Given the description of an element on the screen output the (x, y) to click on. 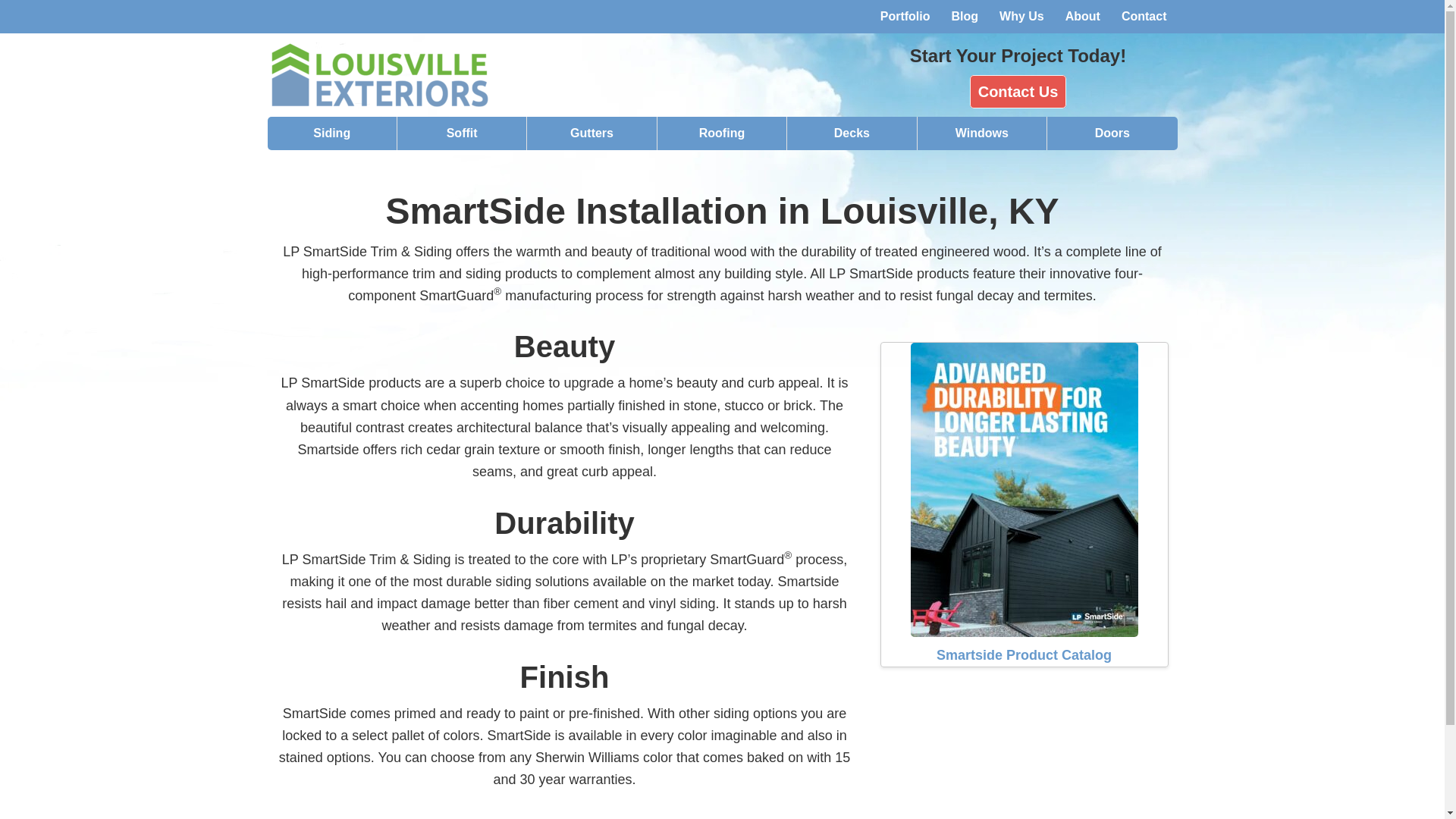
Louisville Exteriors (403, 74)
Why Us (1021, 16)
Blog (965, 16)
About (1082, 16)
Portfolio (904, 16)
Siding (331, 133)
Smartside-Product-Catalog (1023, 490)
Contact Us (1018, 91)
Contact (1143, 16)
Gutters (591, 133)
Soffit (462, 133)
